Given the description of an element on the screen output the (x, y) to click on. 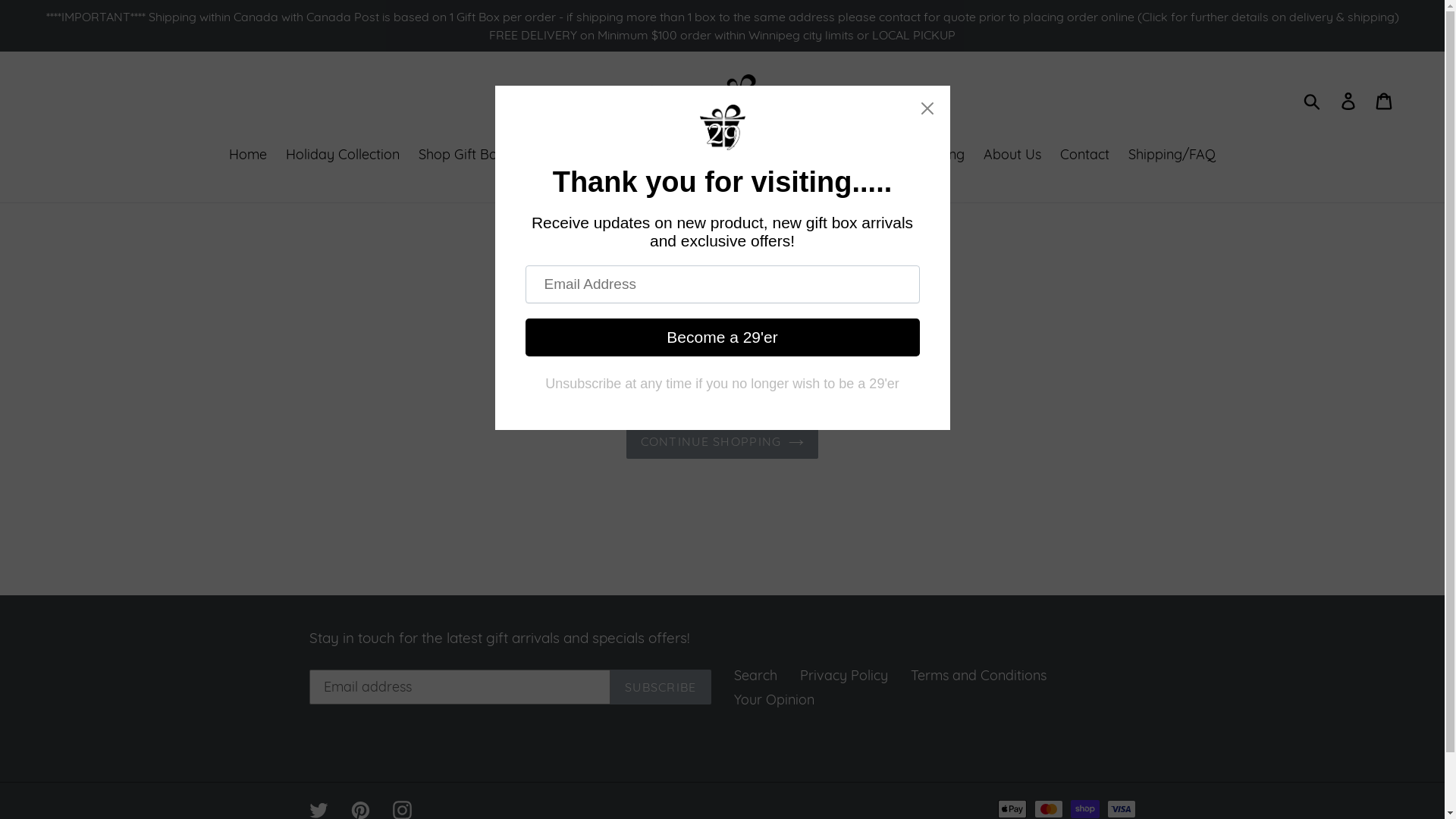
Log in Element type: text (1349, 99)
Corporate Gifting Element type: text (909, 155)
Home Element type: text (247, 155)
SUBSCRIBE Element type: text (660, 686)
SALE! Element type: text (818, 155)
Search Element type: text (755, 675)
Holiday Collection Element type: text (342, 155)
Contact Element type: text (1084, 155)
Terms and Conditions Element type: text (977, 675)
Shipping/FAQ Element type: text (1171, 155)
Your Opinion Element type: text (774, 699)
CONTINUE SHOPPING Element type: text (722, 440)
Cart Element type: text (1384, 99)
Privacy Policy Element type: text (843, 675)
About Us Element type: text (1011, 155)
Submit Element type: text (1312, 99)
